Given the description of an element on the screen output the (x, y) to click on. 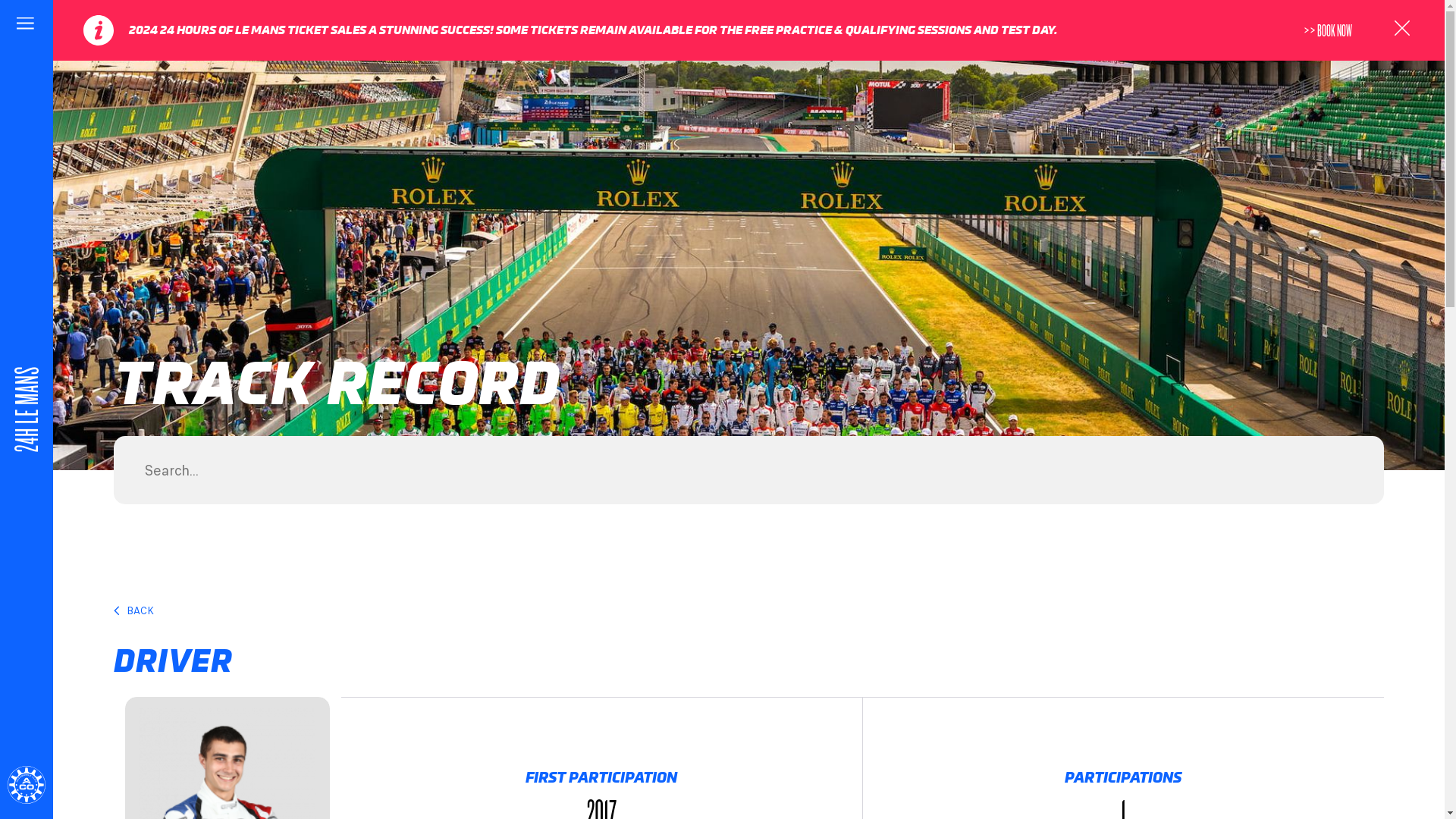
>> BOOK NOW Element type: text (1335, 29)
24H LE MANS Element type: text (76, 359)
Menu Element type: text (26, 26)
BACK Element type: text (740, 610)
